Given the description of an element on the screen output the (x, y) to click on. 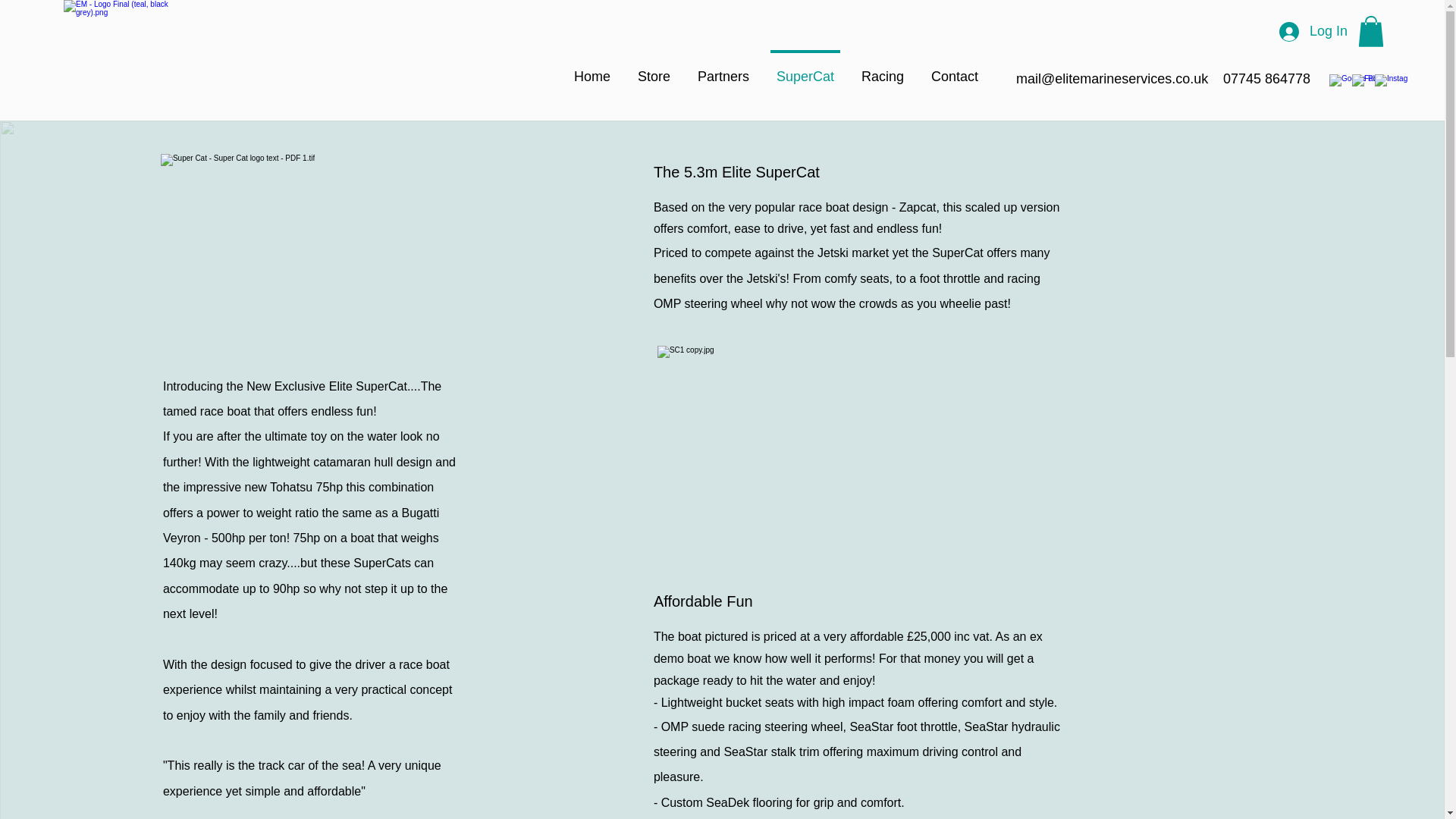
SuperCat (804, 69)
Home (592, 69)
Contact (954, 69)
Partners (723, 69)
Store (654, 69)
Racing (882, 69)
Log In (1313, 31)
